Given the description of an element on the screen output the (x, y) to click on. 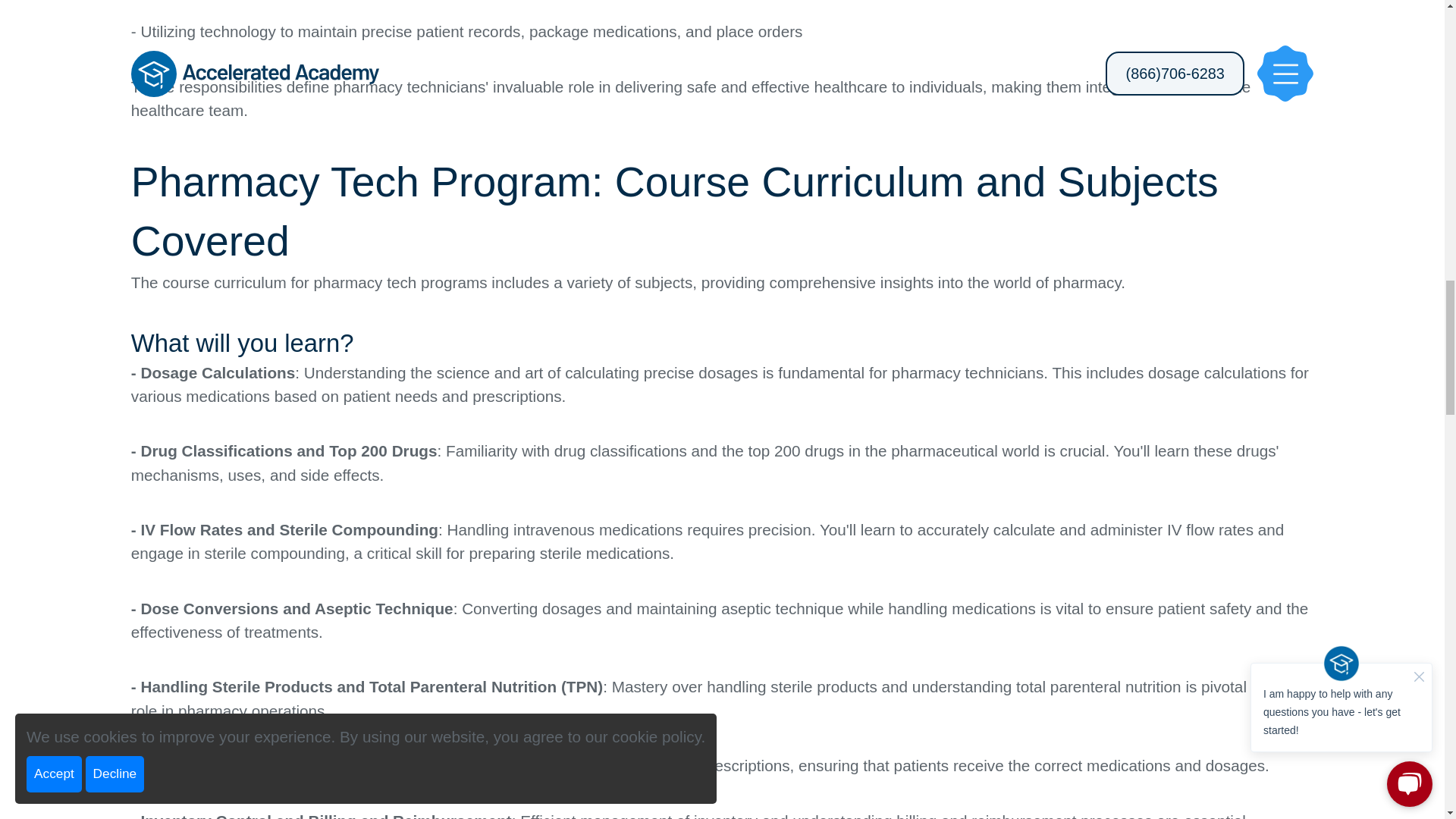
pharmacy tech programs (399, 282)
